Given the description of an element on the screen output the (x, y) to click on. 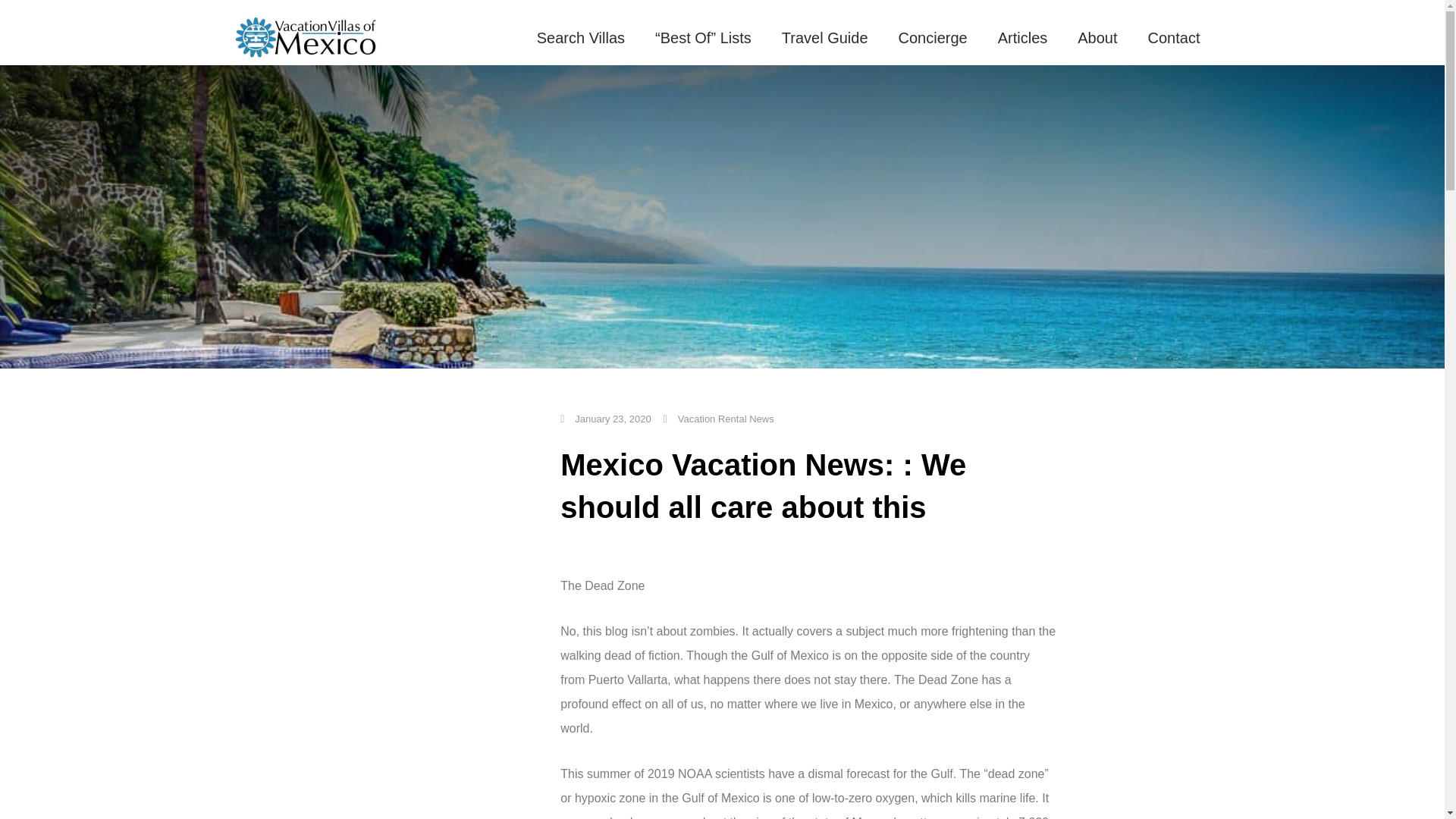
Travel Guide (825, 37)
Vacation Rental News (726, 419)
Contact (1173, 37)
Articles (1022, 37)
Search Villas (580, 37)
Concierge (932, 37)
January 23, 2020 (605, 419)
About (1097, 37)
